Given the description of an element on the screen output the (x, y) to click on. 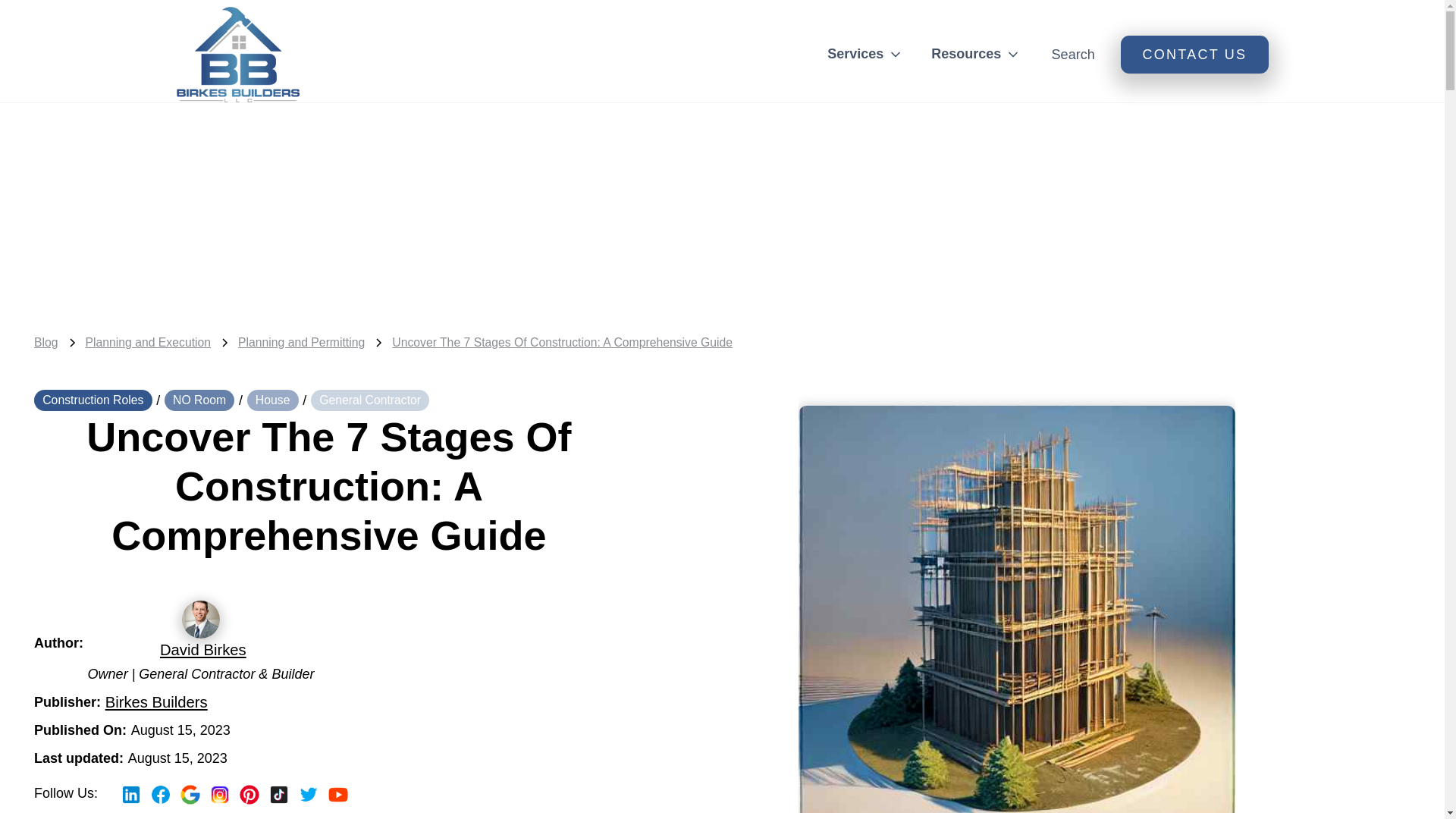
Planning and Permitting (301, 342)
Uncover The 7 Stages Of Construction: A Comprehensive Guide (561, 342)
Planning and Execution (148, 342)
CONTACT US (1194, 54)
NO Room (199, 400)
General Contractor (370, 400)
Search (1072, 54)
Construction Roles (92, 400)
Blog (45, 342)
House (272, 400)
